Given the description of an element on the screen output the (x, y) to click on. 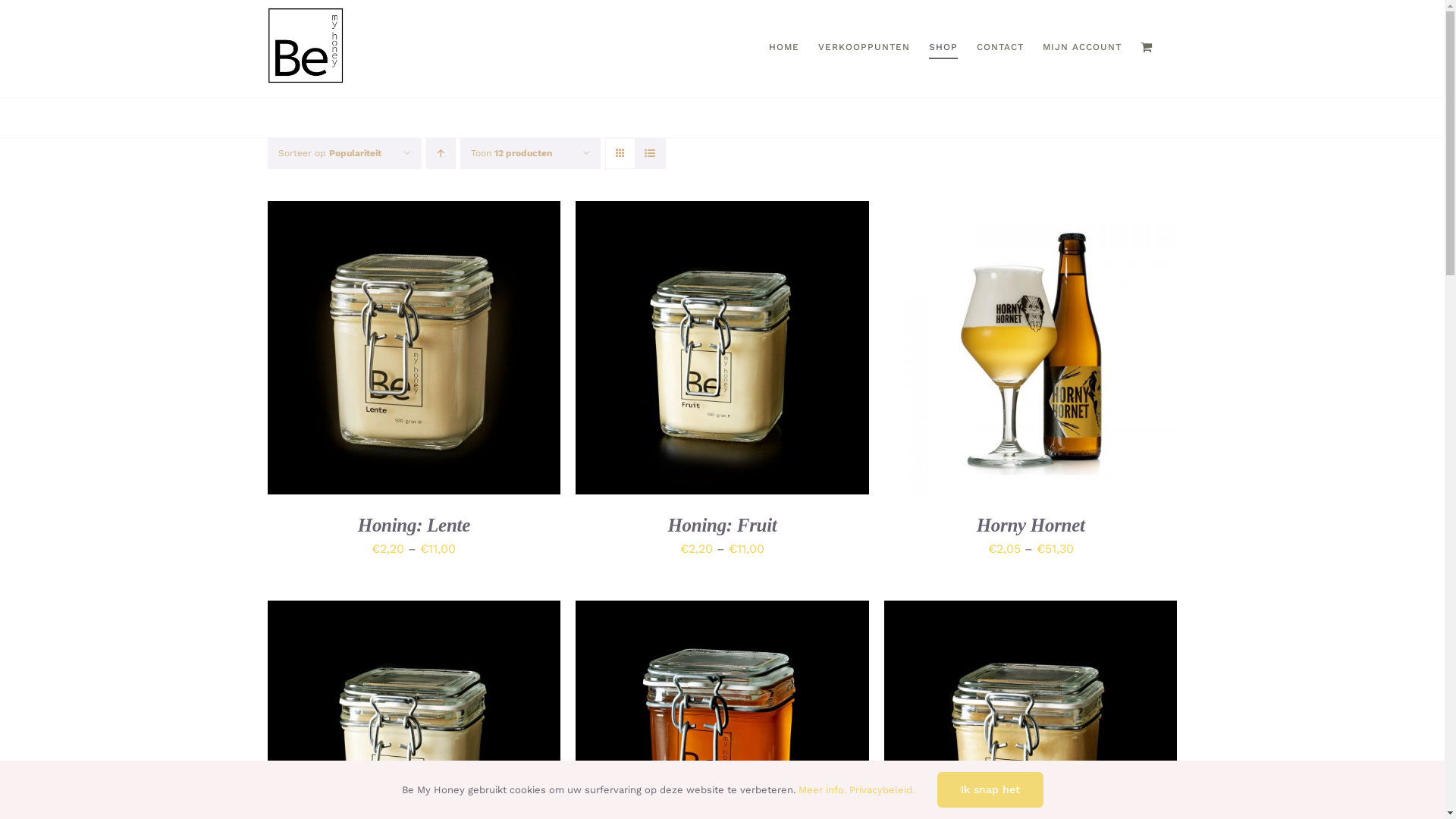
Honing: Lente Element type: text (413, 524)
Ik snap het Element type: text (990, 789)
MIJN ACCOUNT Element type: text (1080, 46)
SHOP Element type: text (942, 46)
Inloggen Element type: text (1132, 230)
CONTACT Element type: text (999, 46)
HOME Element type: text (783, 46)
Meer info. Element type: text (821, 789)
Privacybeleid. Element type: text (881, 789)
Sorteer op Populariteit Element type: text (328, 152)
Horny Hornet Element type: text (1030, 524)
Toon 12 producten Element type: text (510, 152)
Honing: Fruit Element type: text (721, 524)
VERKOOPPUNTEN Element type: text (863, 46)
